Given the description of an element on the screen output the (x, y) to click on. 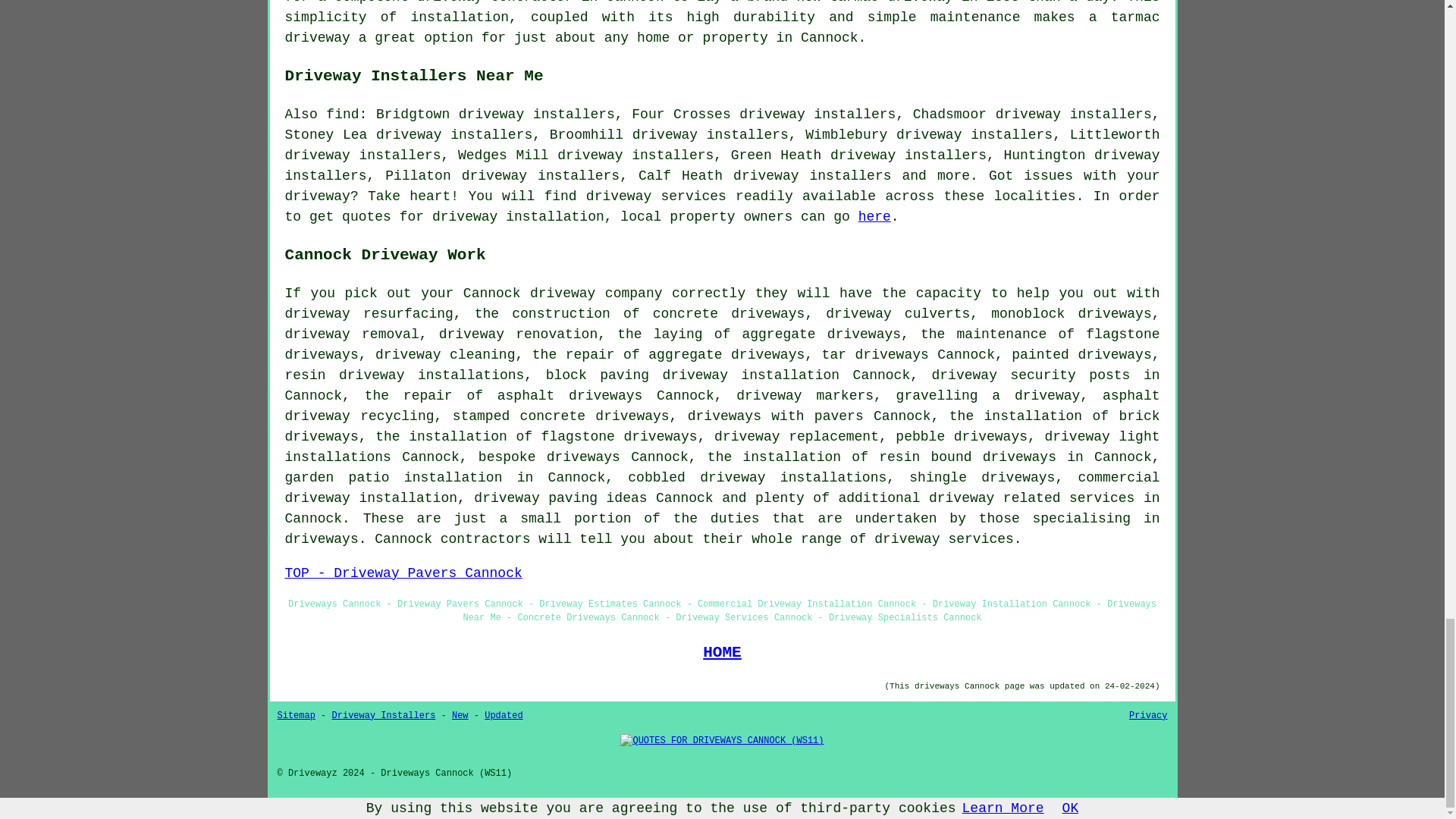
block paving driveway installation (693, 375)
driveway replacement (796, 436)
the installation of resin bound driveways (882, 457)
